Given the description of an element on the screen output the (x, y) to click on. 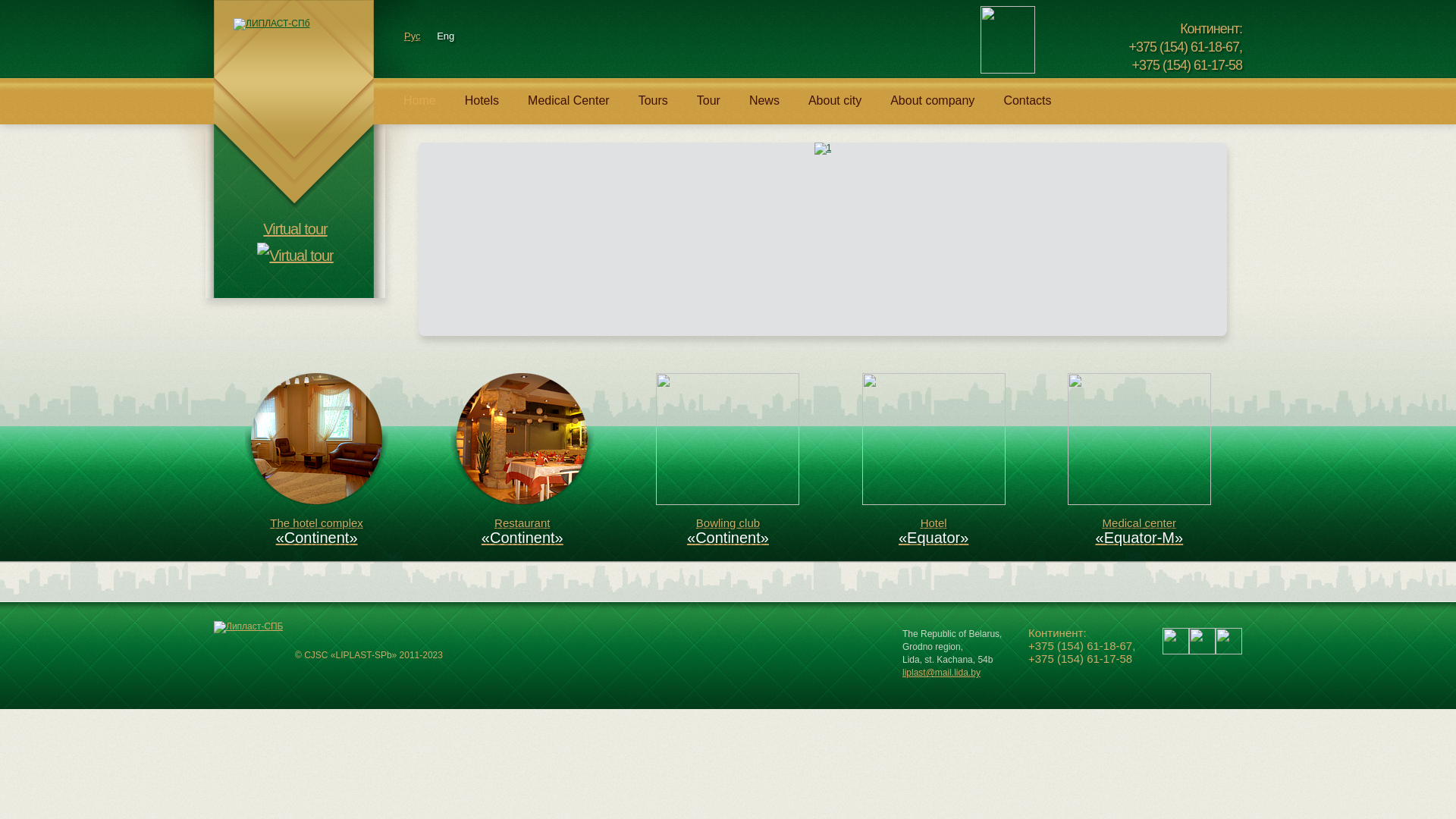
News Element type: text (763, 107)
Sitemap Element type: text (755, 40)
About city Element type: text (834, 107)
Contacts Element type: text (1026, 107)
Tour Element type: text (708, 107)
Tours Element type: text (653, 107)
About company Element type: text (931, 107)
Home Element type: text (419, 107)
Virtual tour Element type: text (294, 241)
liplast@mail.lida.by Element type: text (941, 672)
Medical Center Element type: text (568, 107)
Hotels Element type: text (481, 107)
Homepage Element type: text (716, 40)
Feedback Element type: text (794, 40)
